Given the description of an element on the screen output the (x, y) to click on. 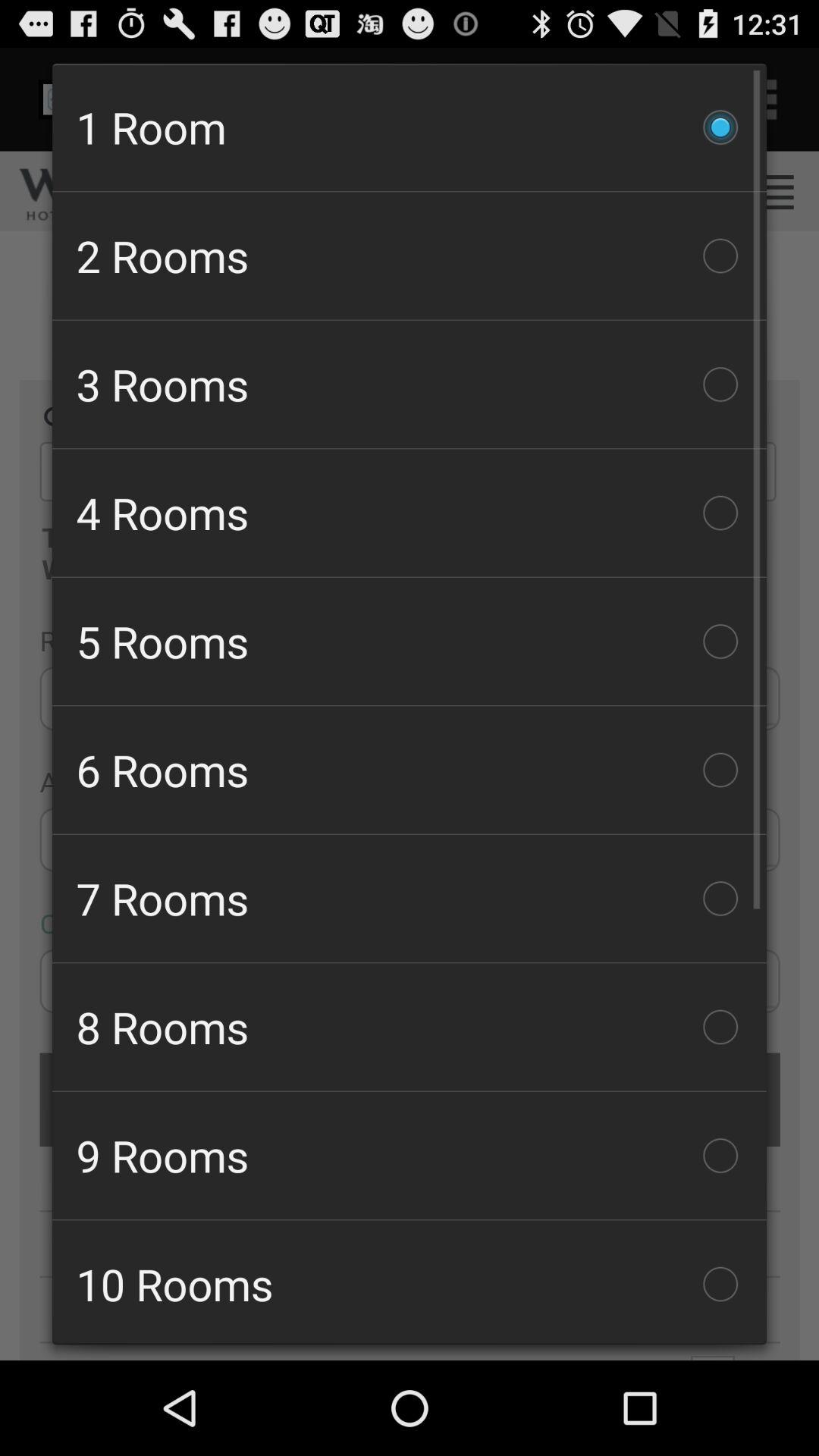
swipe to the 7 rooms item (409, 898)
